Given the description of an element on the screen output the (x, y) to click on. 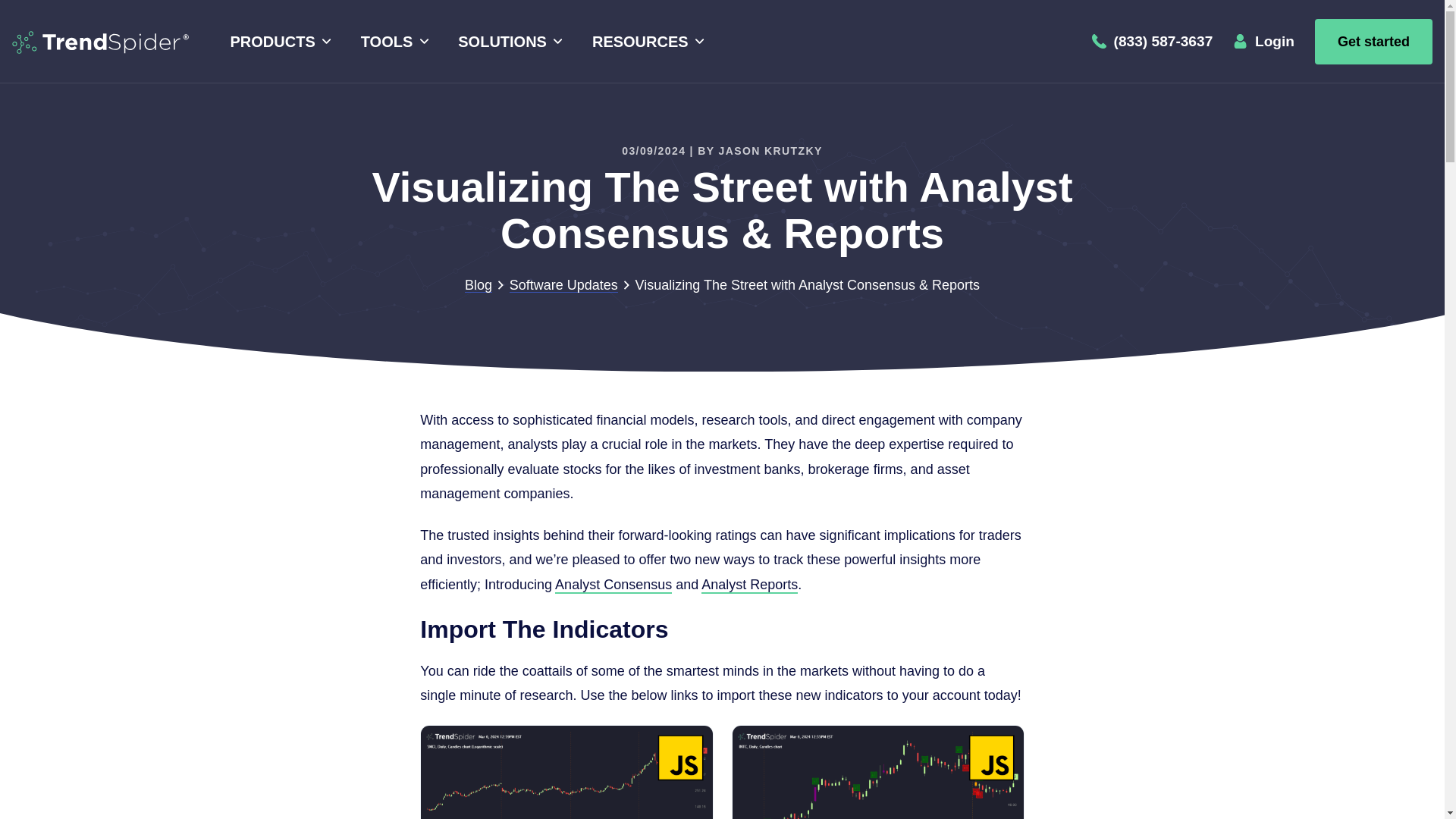
Go to the Software Updates Category archives. (563, 284)
TOOLS (392, 41)
PRODUCTS (277, 41)
TrendSpider (100, 41)
Get started (1373, 41)
SOLUTIONS (508, 41)
Go to TrendSpider Blog. (478, 284)
RESOURCES (645, 41)
